Given the description of an element on the screen output the (x, y) to click on. 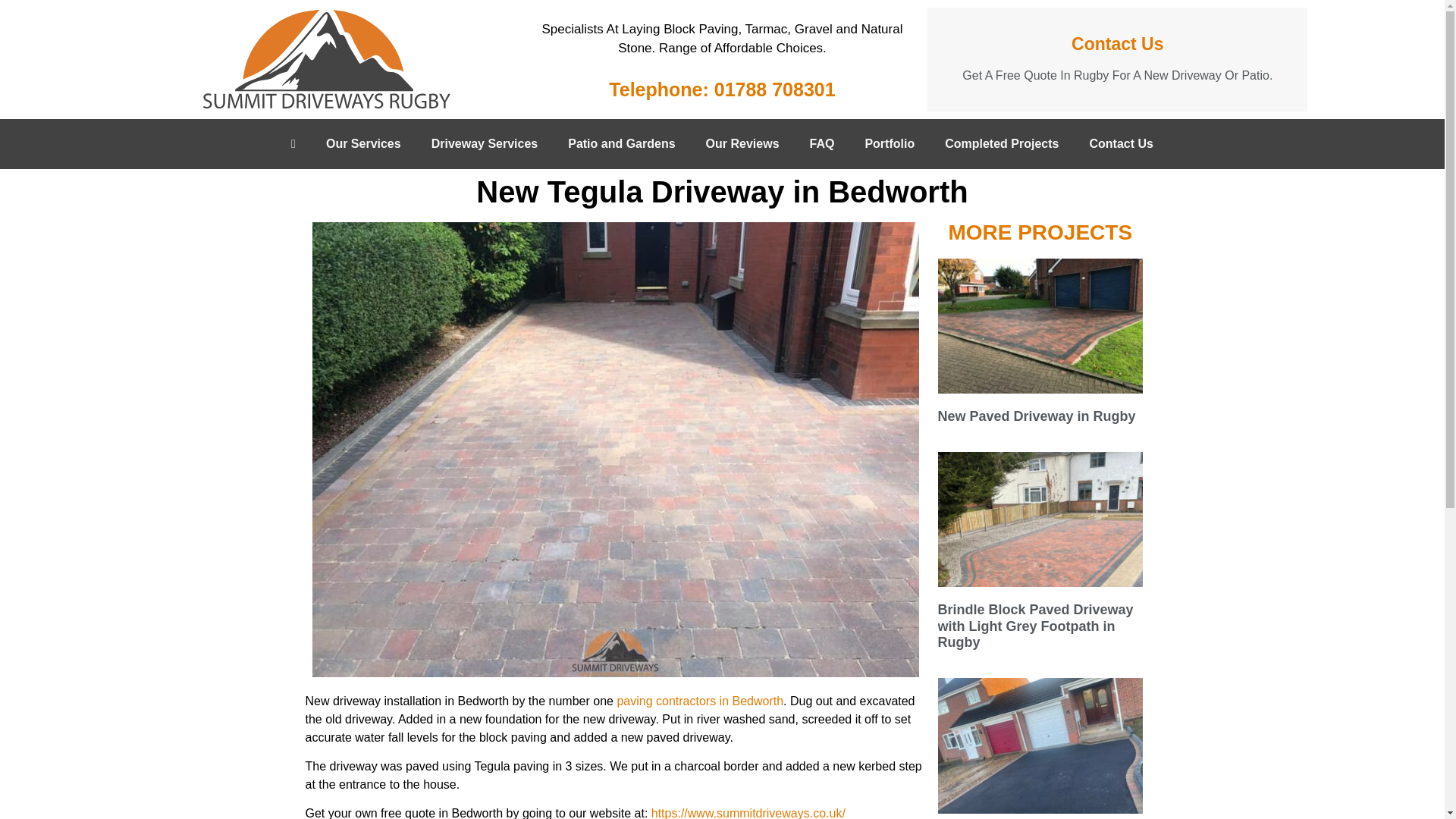
Contact Us (1120, 143)
Portfolio (889, 143)
Our Reviews (742, 143)
New Paved Driveway in Rugby (1036, 416)
Our Services (363, 143)
paving contractors in Bedworth (699, 700)
Driveway Services (484, 143)
rugby-driveways (326, 58)
